Given the description of an element on the screen output the (x, y) to click on. 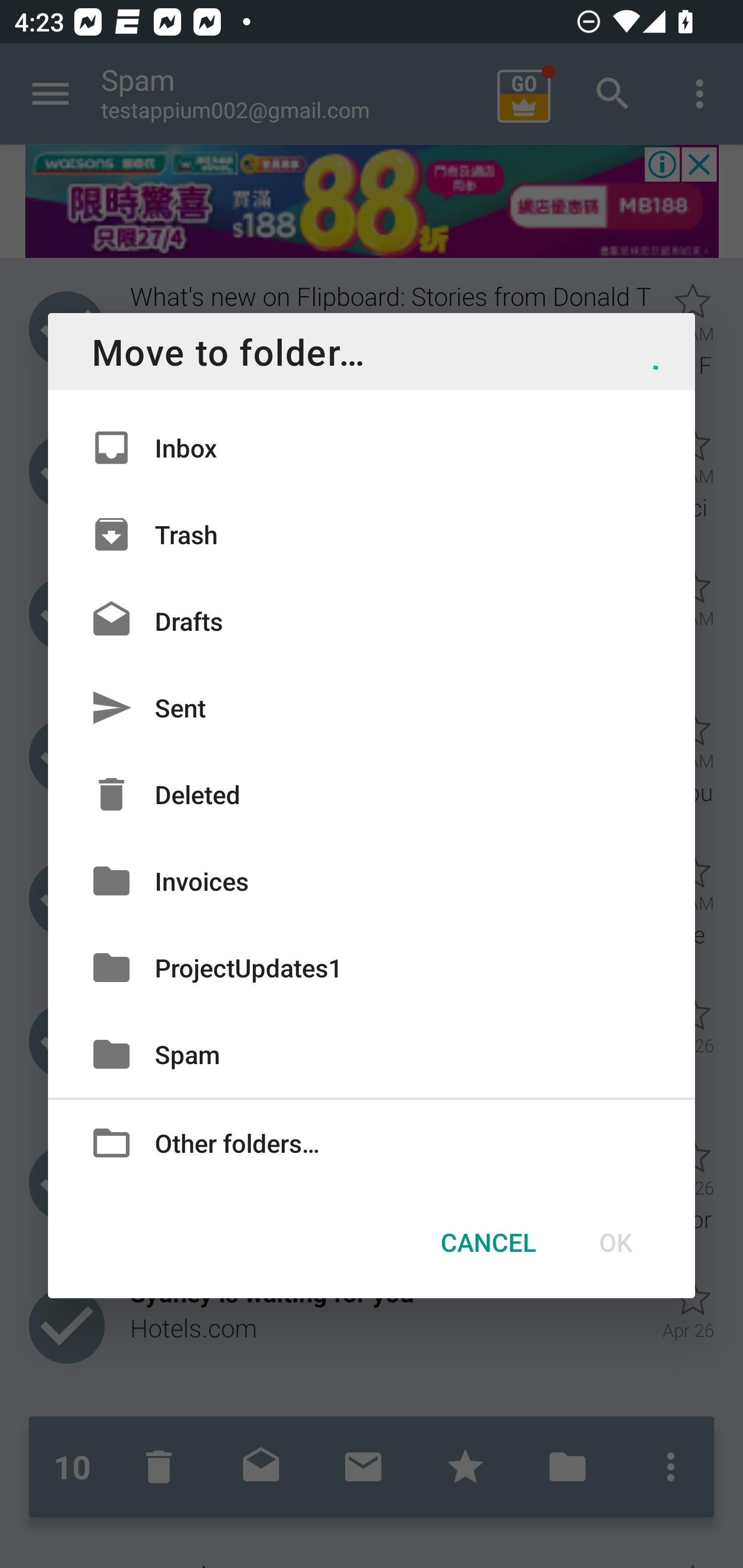
Inbox (371, 447)
Trash (371, 533)
Drafts (371, 620)
Sent (371, 707)
Deleted (371, 794)
Invoices (371, 880)
ProjectUpdates1 (371, 967)
Spam (371, 1054)
Other folders… (371, 1141)
CANCEL (488, 1241)
OK (615, 1241)
